Given the description of an element on the screen output the (x, y) to click on. 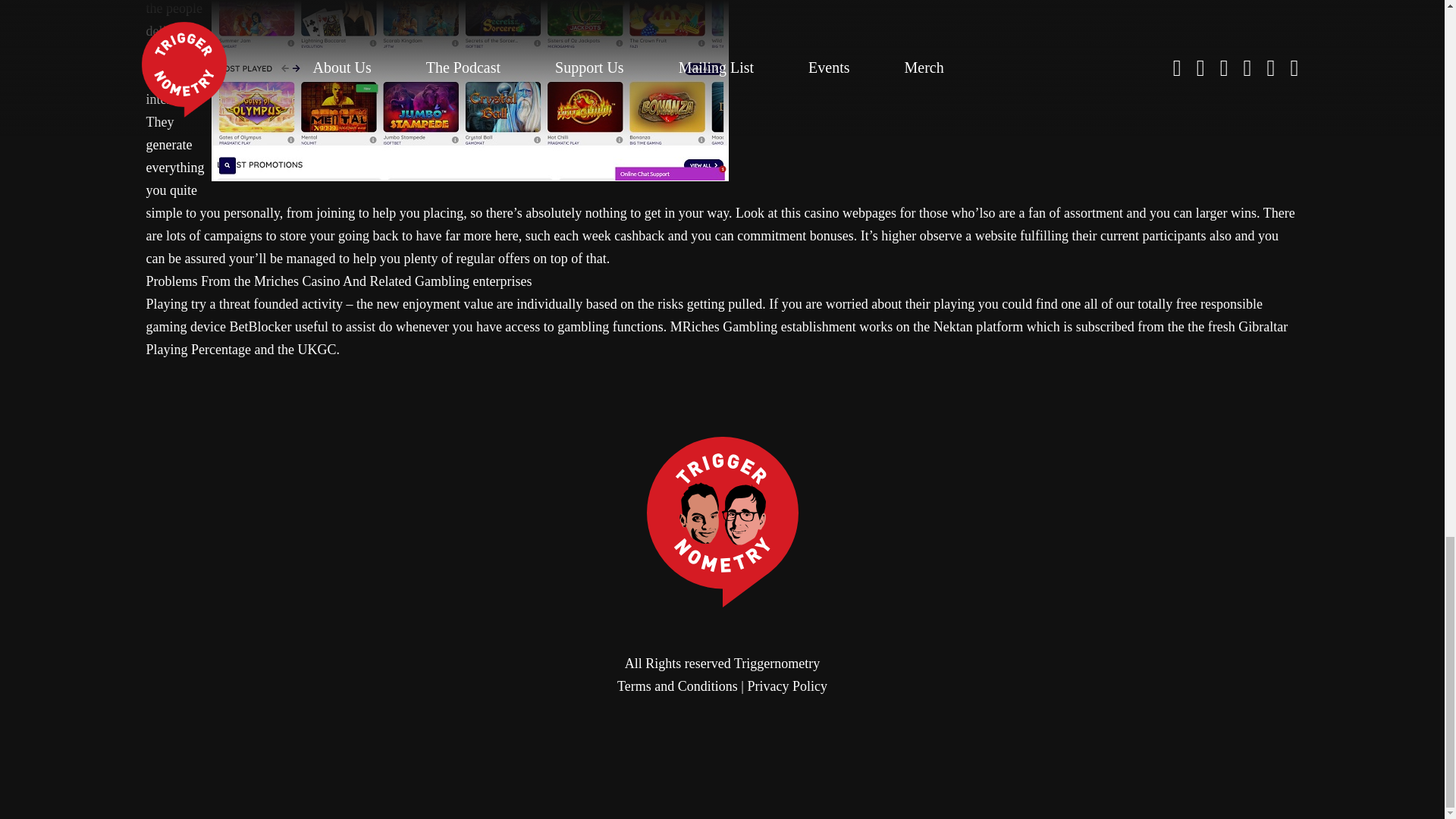
Terms and Conditions (677, 685)
Privacy Policy (786, 685)
